Given the description of an element on the screen output the (x, y) to click on. 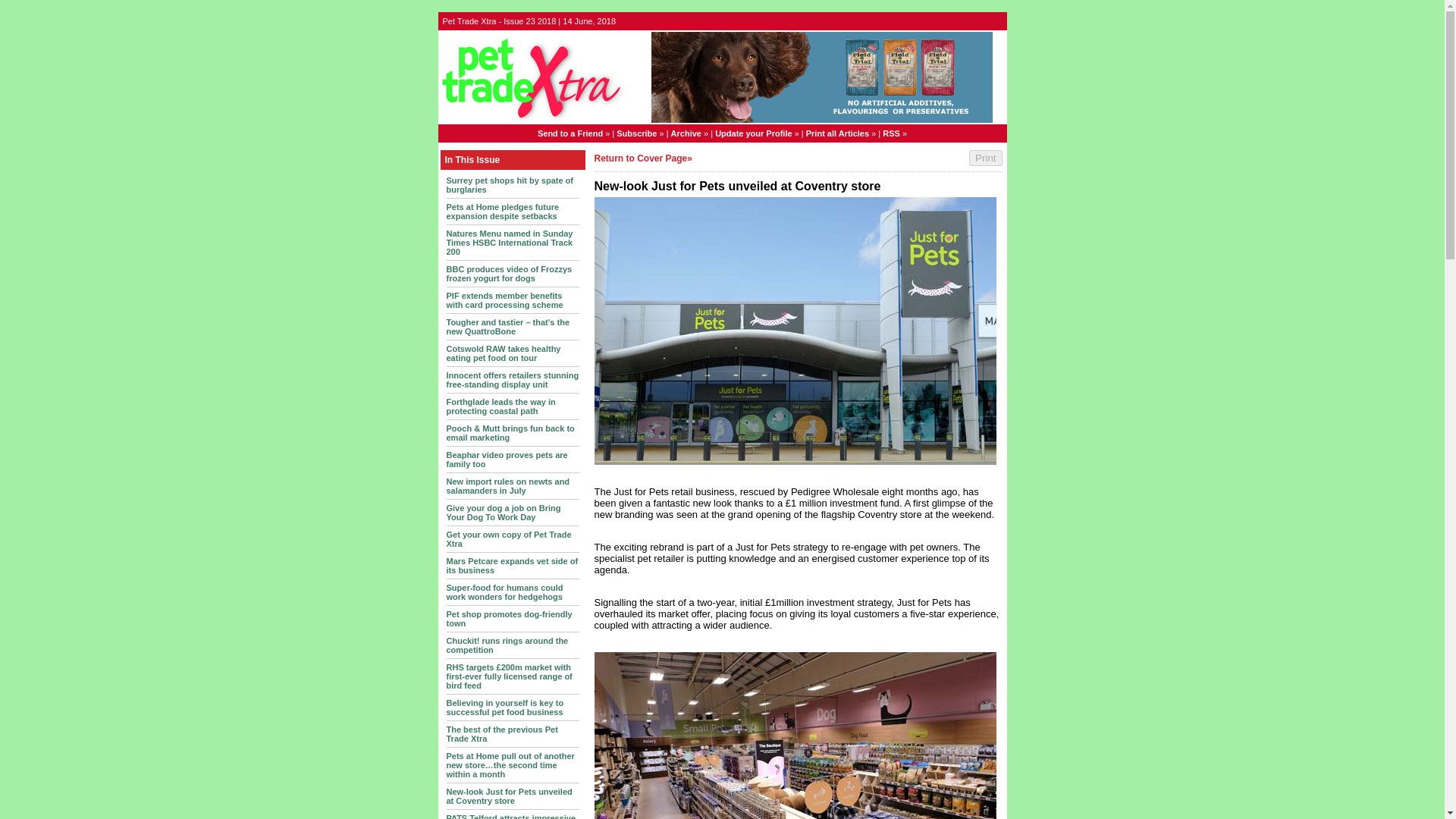
New-look Just for Pets unveiled at Coventry store (508, 796)
Update your Profile (753, 133)
Believing in yourself is key to successful pet food business (504, 707)
Give your dog a job on Bring Your Dog To Work Day (502, 512)
Cotswold RAW takes healthy eating pet food on tour (502, 352)
Print (985, 157)
The best of the previous Pet Trade Xtra (501, 733)
Forthglade leads the way in protecting coastal path (499, 406)
Pet shop promotes dog-friendly town (508, 618)
Get your own copy of Pet Trade Xtra (507, 538)
Beaphar video proves pets are family too (506, 459)
BBC produces video of Frozzys frozen yogurt for dogs (508, 273)
Chuckit! runs rings around the competition (506, 645)
Pets at Home pledges future expansion despite setbacks (502, 211)
